Given the description of an element on the screen output the (x, y) to click on. 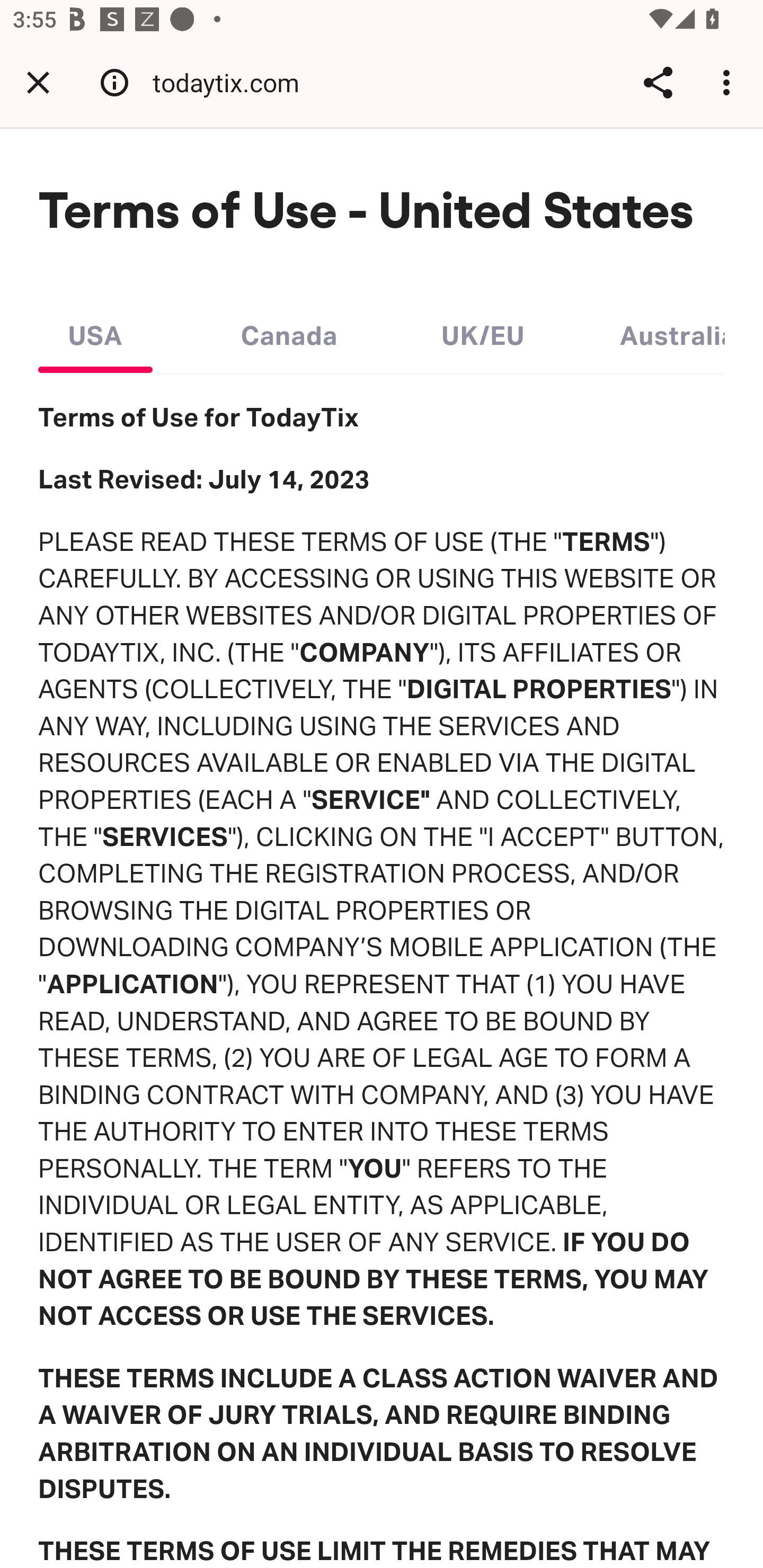
Close tab (38, 82)
Share (657, 82)
Customize and control Google Chrome (729, 82)
Connection is secure (114, 81)
todaytix.com (232, 81)
USA (95, 330)
Canada (288, 330)
UK/EU (482, 330)
